Given the description of an element on the screen output the (x, y) to click on. 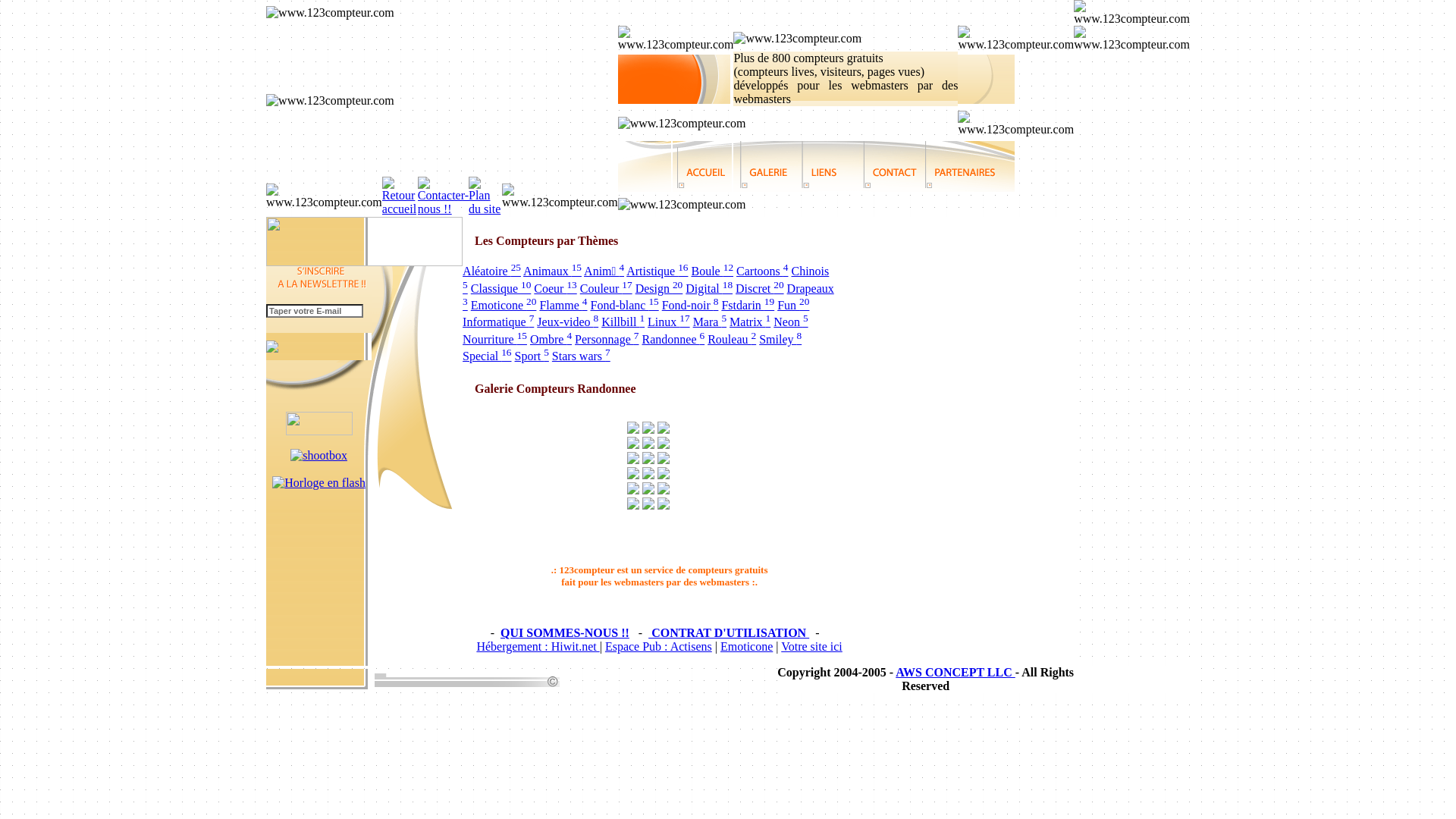
Espace Pub : Actisens Element type: text (658, 646)
Classique 10 Element type: text (500, 288)
shootbox Element type: hover (318, 455)
Matrix 1 Element type: text (749, 321)
Votre site ici Element type: text (811, 646)
Linux 17 Element type: text (668, 321)
Boule 12 Element type: text (712, 270)
Killbill 1 Element type: text (622, 321)
Fond-blanc 15 Element type: text (624, 304)
Informatique 7 Element type: text (497, 321)
Randonnee 6 Element type: text (672, 338)
Fond-noir 8 Element type: text (690, 304)
Mara 5 Element type: text (709, 321)
Cartoons 4 Element type: text (761, 270)
Artistique 16 Element type: text (656, 270)
Jeux-video 8 Element type: text (567, 321)
Emoticone Element type: text (746, 646)
Fun 20 Element type: text (793, 304)
Neon 5 Element type: text (790, 321)
Coeur 13 Element type: text (554, 288)
Discret 20 Element type: text (759, 288)
CONTRAT D'UTILISATION Element type: text (728, 632)
Flamme 4 Element type: text (562, 304)
Design 20 Element type: text (659, 288)
AWS CONCEPT LLC Element type: text (955, 671)
Smiley 8 Element type: text (780, 338)
Drapeaux 3 Element type: text (648, 296)
Ombre 4 Element type: text (550, 338)
Special 16 Element type: text (486, 355)
Chinois 5 Element type: text (645, 279)
Fstdarin 19 Element type: text (747, 304)
Couleur 17 Element type: text (606, 288)
Stars wars 7 Element type: text (581, 355)
Nourriture 15 Element type: text (494, 338)
Animaux 15 Element type: text (552, 270)
Personnage 7 Element type: text (606, 338)
Digital 18 Element type: text (708, 288)
QUI SOMMES-NOUS !! Element type: text (564, 632)
Rouleau 2 Element type: text (731, 338)
Emoticone 20 Element type: text (503, 304)
Sport 5 Element type: text (531, 355)
